Given the description of an element on the screen output the (x, y) to click on. 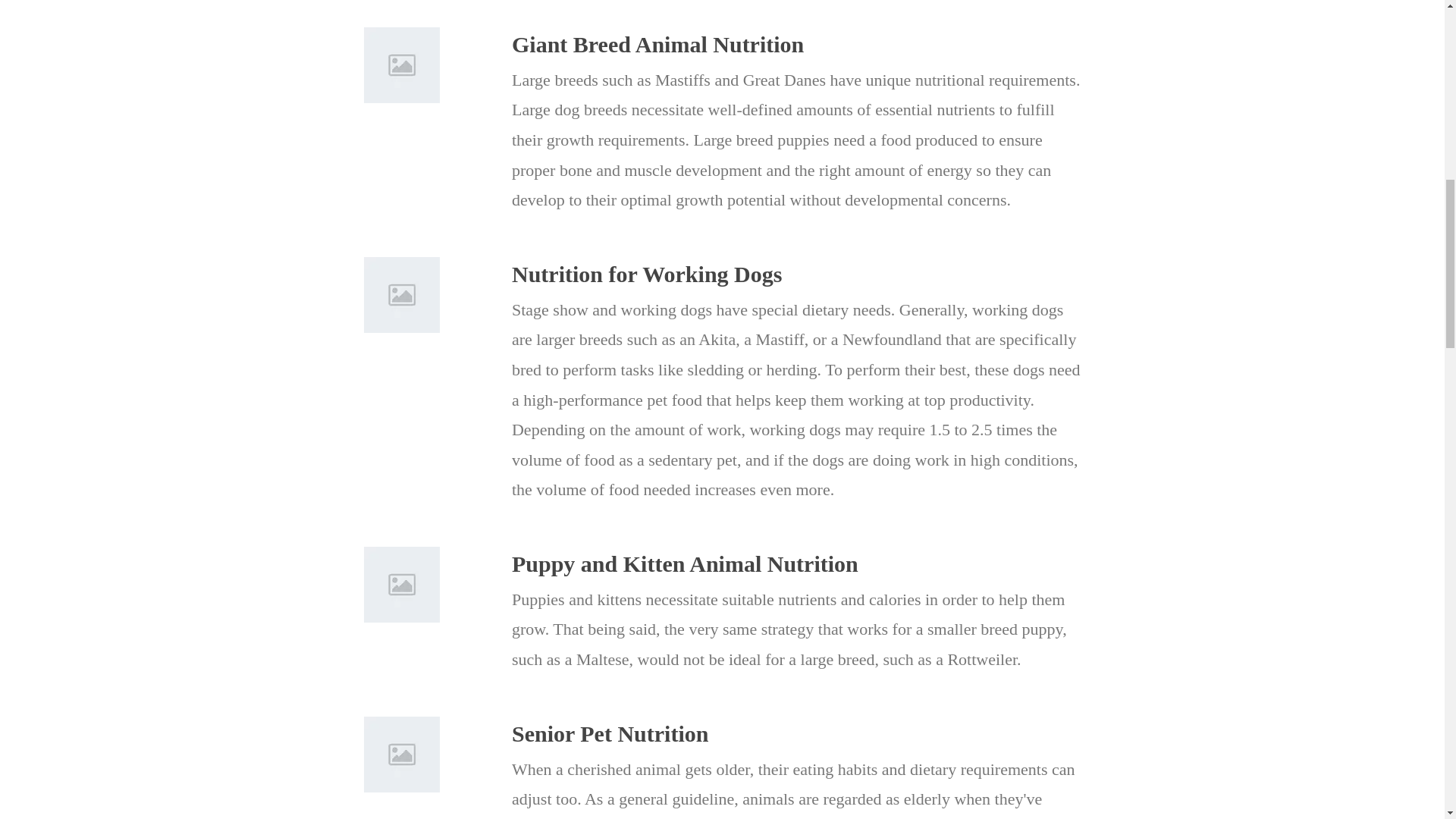
Senior Pet Nutrition (796, 733)
Giant Breed Animal Nutrition (796, 44)
Puppy and Kitten Animal Nutrition (796, 563)
Nutrition for Working Dogs (796, 274)
